Given the description of an element on the screen output the (x, y) to click on. 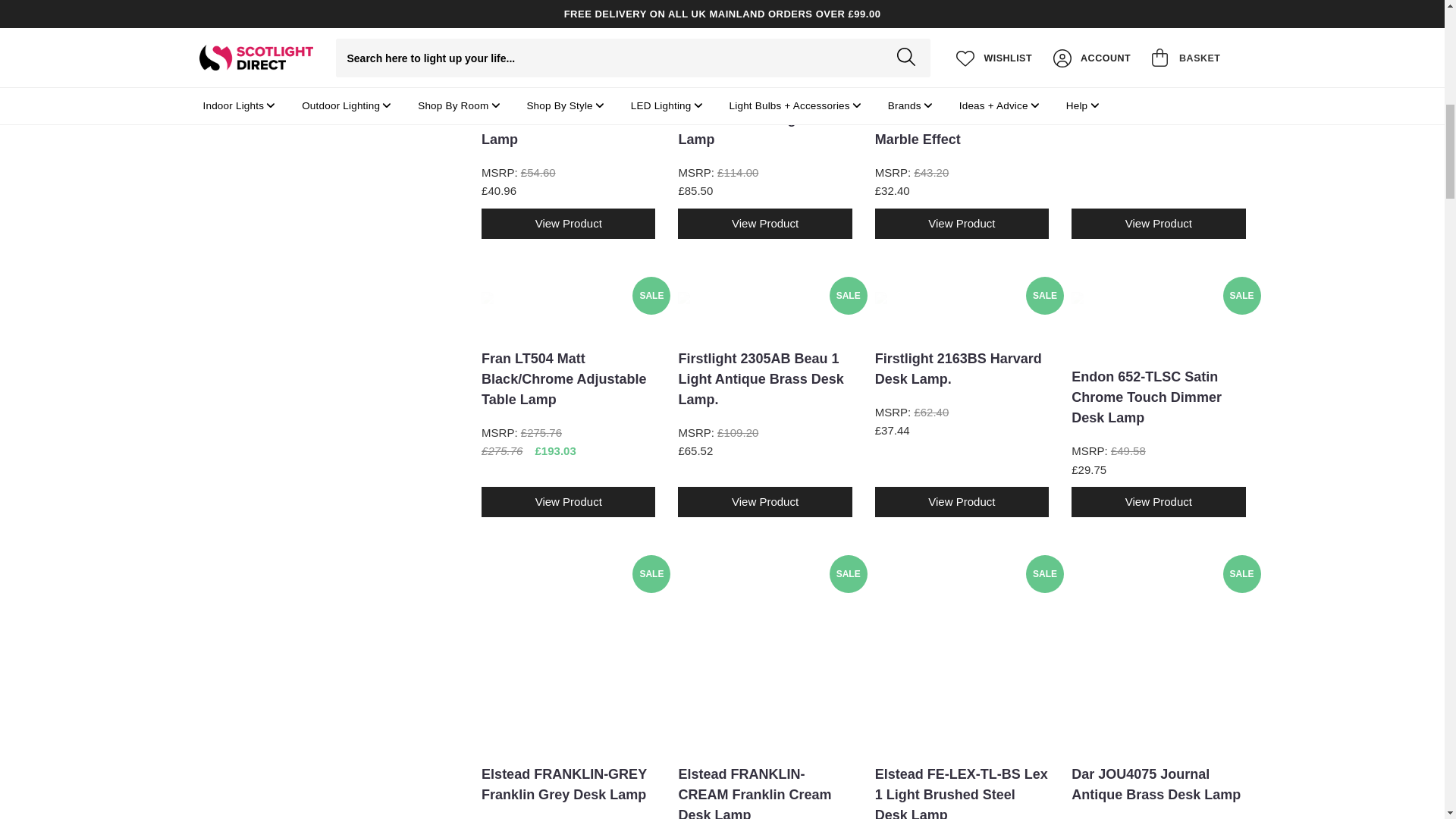
Mason Polished Chromed Ribbed Glass Touch Table Lamp (568, 34)
Elstead FRANKLIN-GREY Franklin Grey Desk Lamp (568, 657)
Elstead FRANKLIN-CREAM Franklin Cream Desk Lamp (764, 657)
Elstead FE-LEX-TL-BS Lex 1 Light Brushed Steel Desk Lamp (961, 657)
Firstlight 2163BS Harvard Desk Lamp. (961, 310)
Endon 652-TLSC Satin Chrome Touch Dimmer Desk Lamp (1157, 319)
Firstlight 2305AB Beau 1 Light Antique Brass Desk Lamp. (764, 310)
Misu Table Lamp With Shade Polished Chrome Marble Effect (961, 34)
Mikara Polished Chrome Planet Glass 2 Light Table Lamp (764, 34)
